Given the description of an element on the screen output the (x, y) to click on. 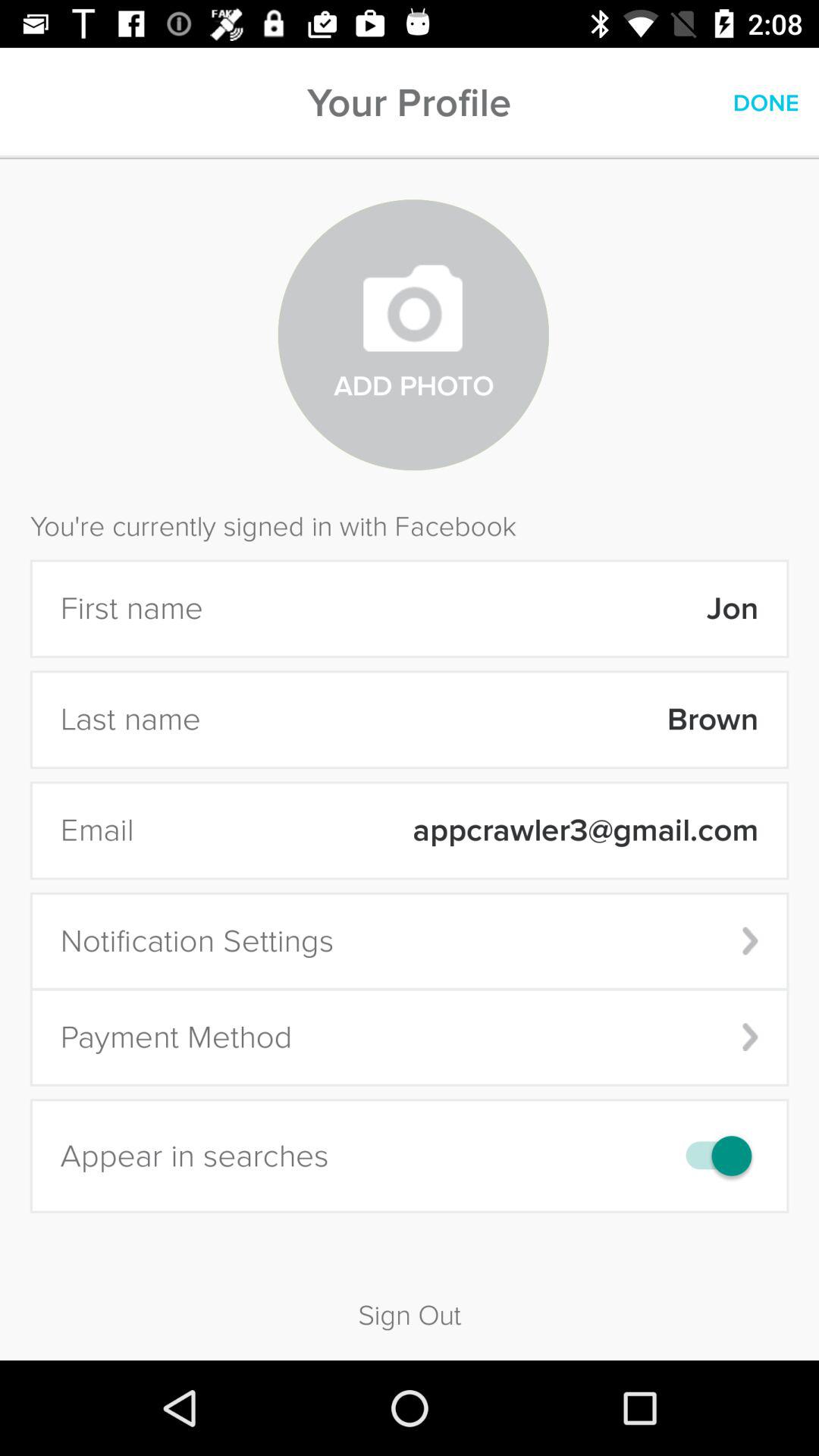
select the sign out (409, 1289)
